Given the description of an element on the screen output the (x, y) to click on. 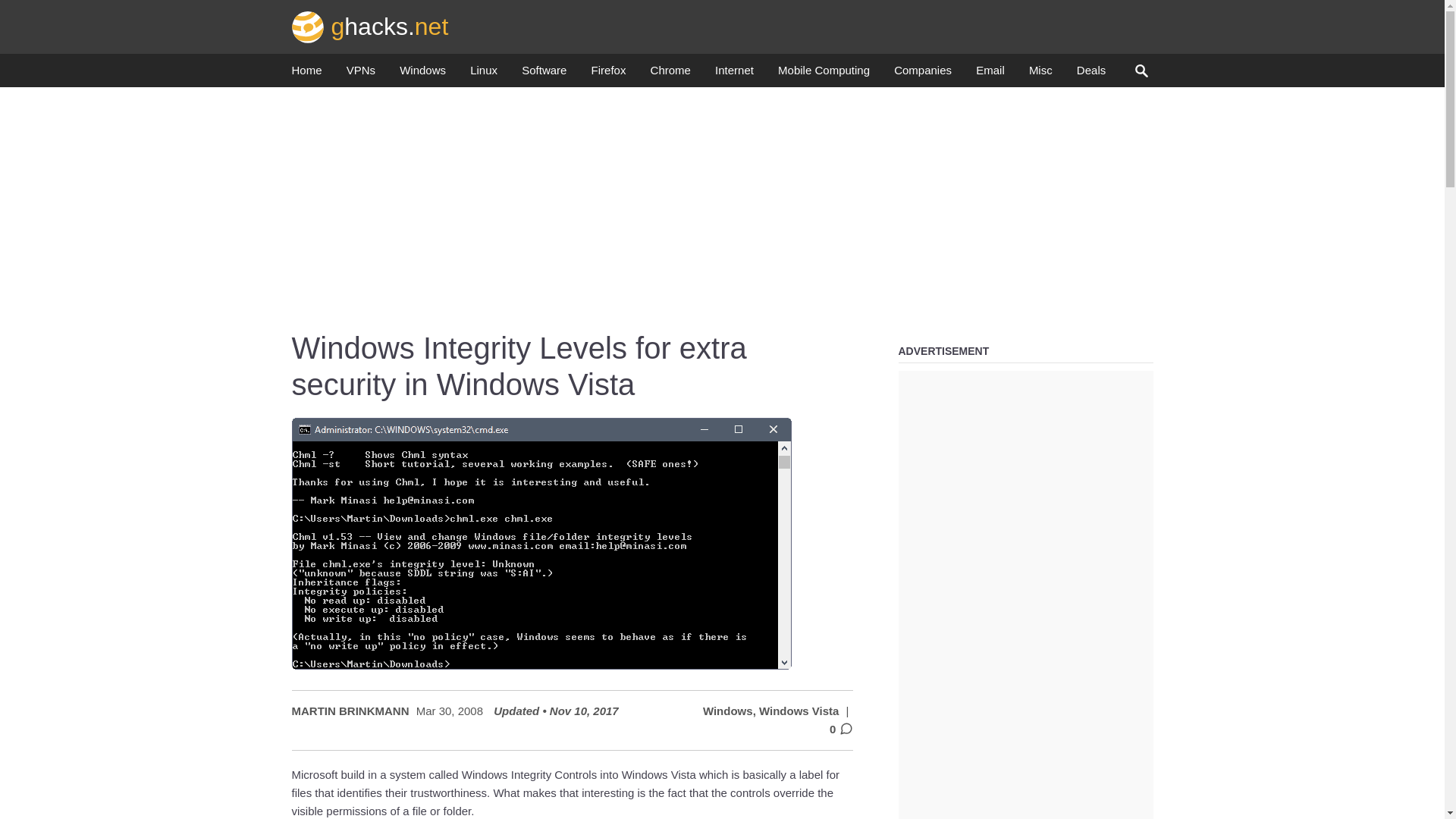
Windows (421, 73)
Companies (922, 73)
ghacks.net (369, 26)
Firefox (608, 73)
Internet (734, 73)
Home (306, 73)
Misc (1040, 73)
Email (989, 73)
Deals (1091, 73)
VPNs (360, 73)
